Given the description of an element on the screen output the (x, y) to click on. 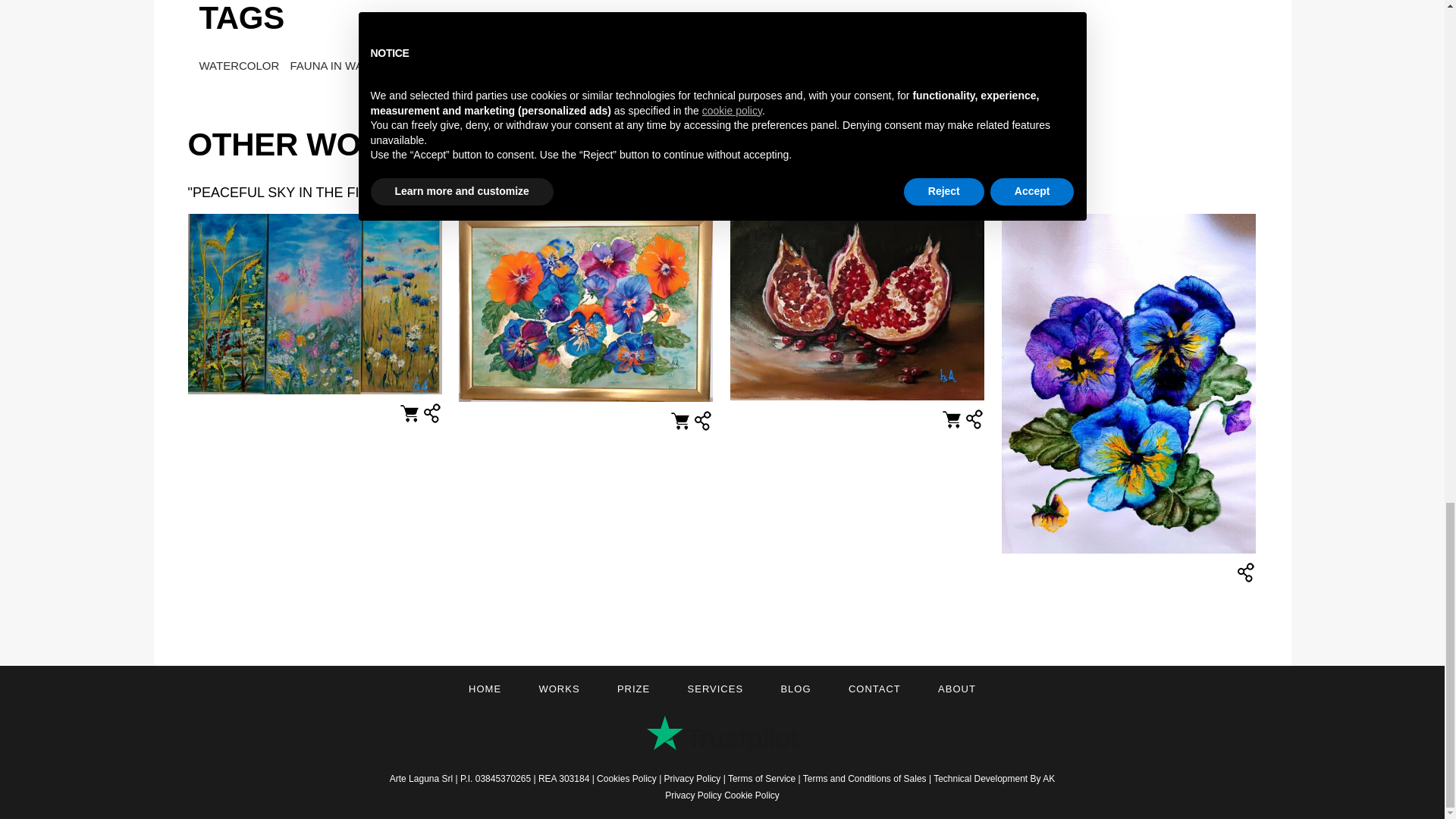
All Arts - Tag: fauna in watercolor Paint (359, 65)
All Arts - Tag:  watercolor Paint (240, 65)
All Arts - Tag: protect rare birds Paint (500, 65)
